Given the description of an element on the screen output the (x, y) to click on. 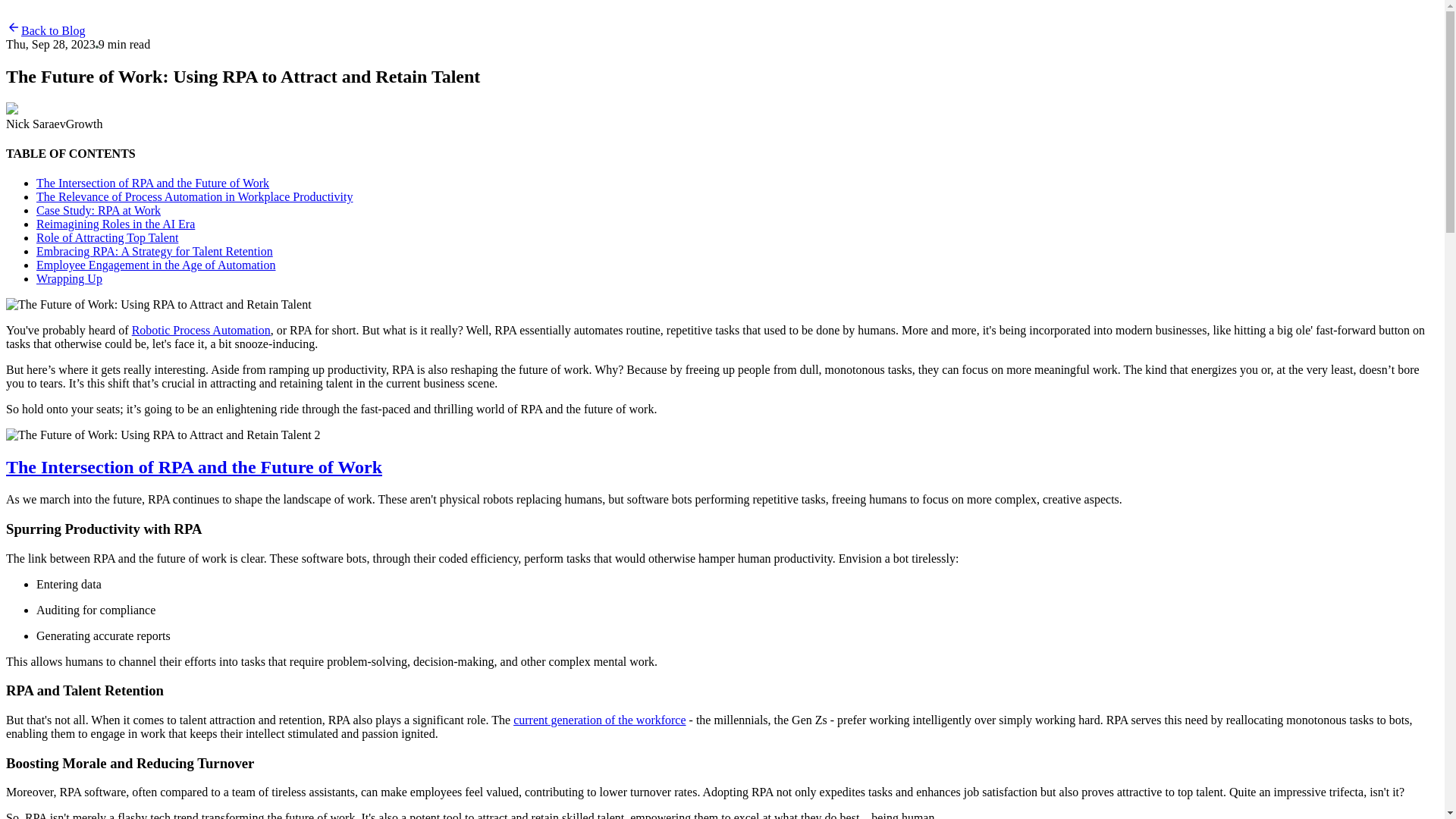
Back to Blog (44, 30)
Wrapping Up (68, 278)
Reimagining Roles in the AI Era (115, 223)
Robotic Process Automation (201, 329)
The Intersection of RPA and the Future of Work (152, 182)
Role of Attracting Top Talent (106, 237)
The Intersection of RPA and the Future of Work (193, 466)
Case Study: RPA at Work (98, 210)
current generation of the workforce (599, 719)
Employee Engagement in the Age of Automation (155, 264)
